Given the description of an element on the screen output the (x, y) to click on. 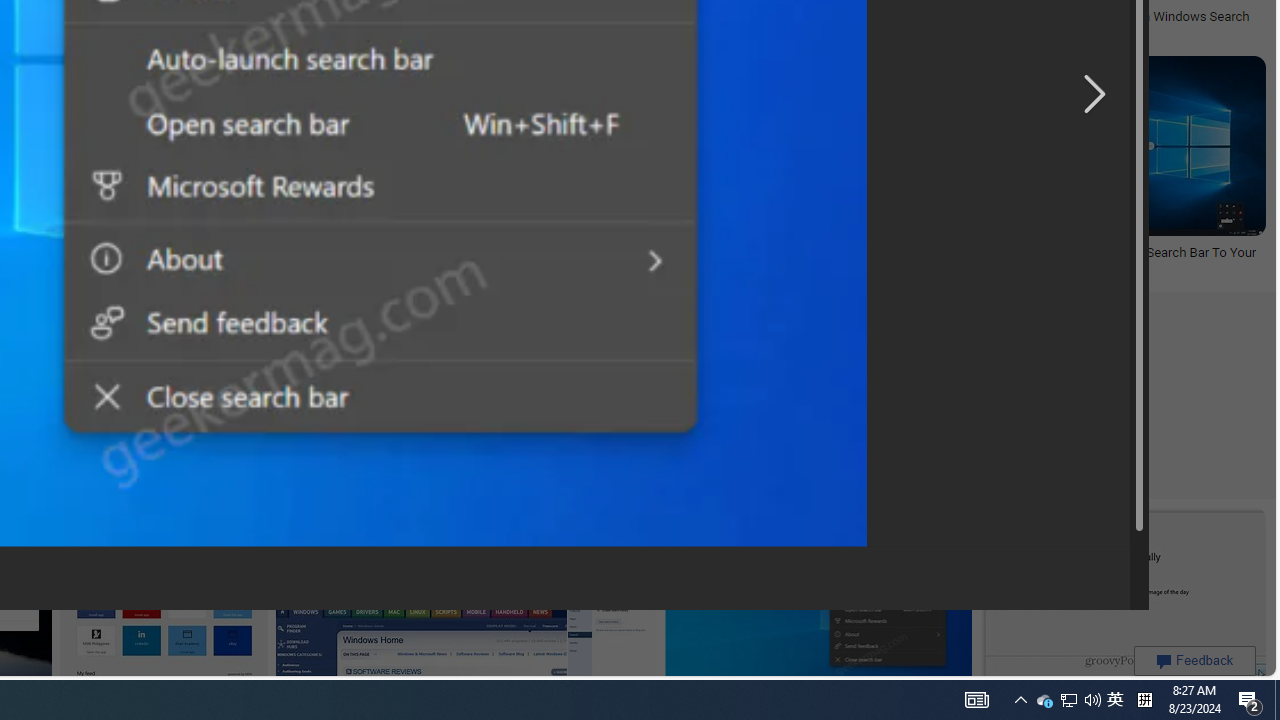
How to install Bing with ChatGPT as an app on Windows 11 (779, 16)
Image result for Bing Search Bar Install (1122, 596)
How to Use Bing Visual Search on Windows Search Bar (1106, 24)
Image result for Bing Search Bar Install (1122, 596)
